Given the description of an element on the screen output the (x, y) to click on. 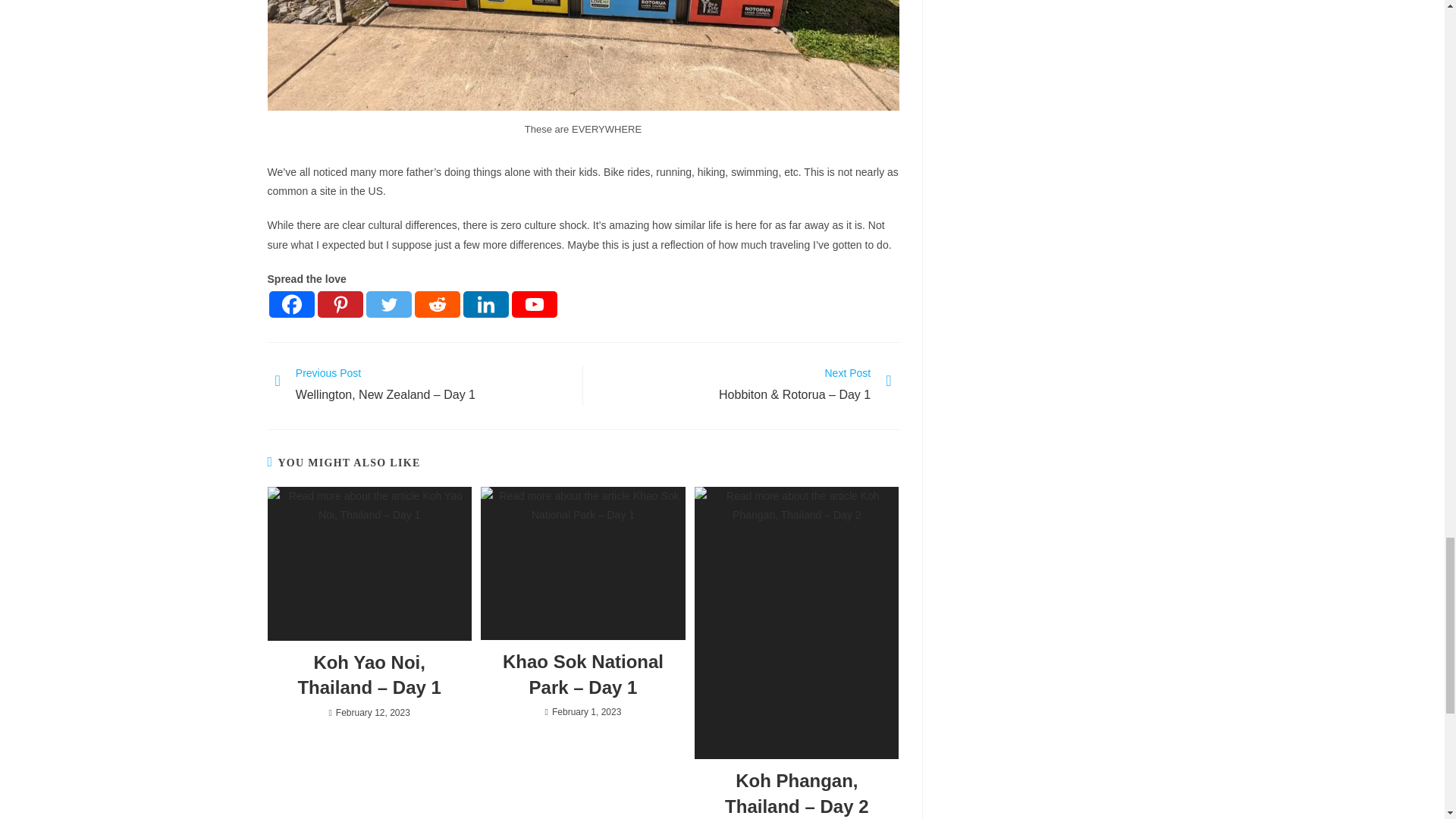
Youtube (533, 304)
Facebook (290, 304)
Reddit (436, 304)
Linkedin (485, 304)
Pinterest (339, 304)
Twitter (387, 304)
